Given the description of an element on the screen output the (x, y) to click on. 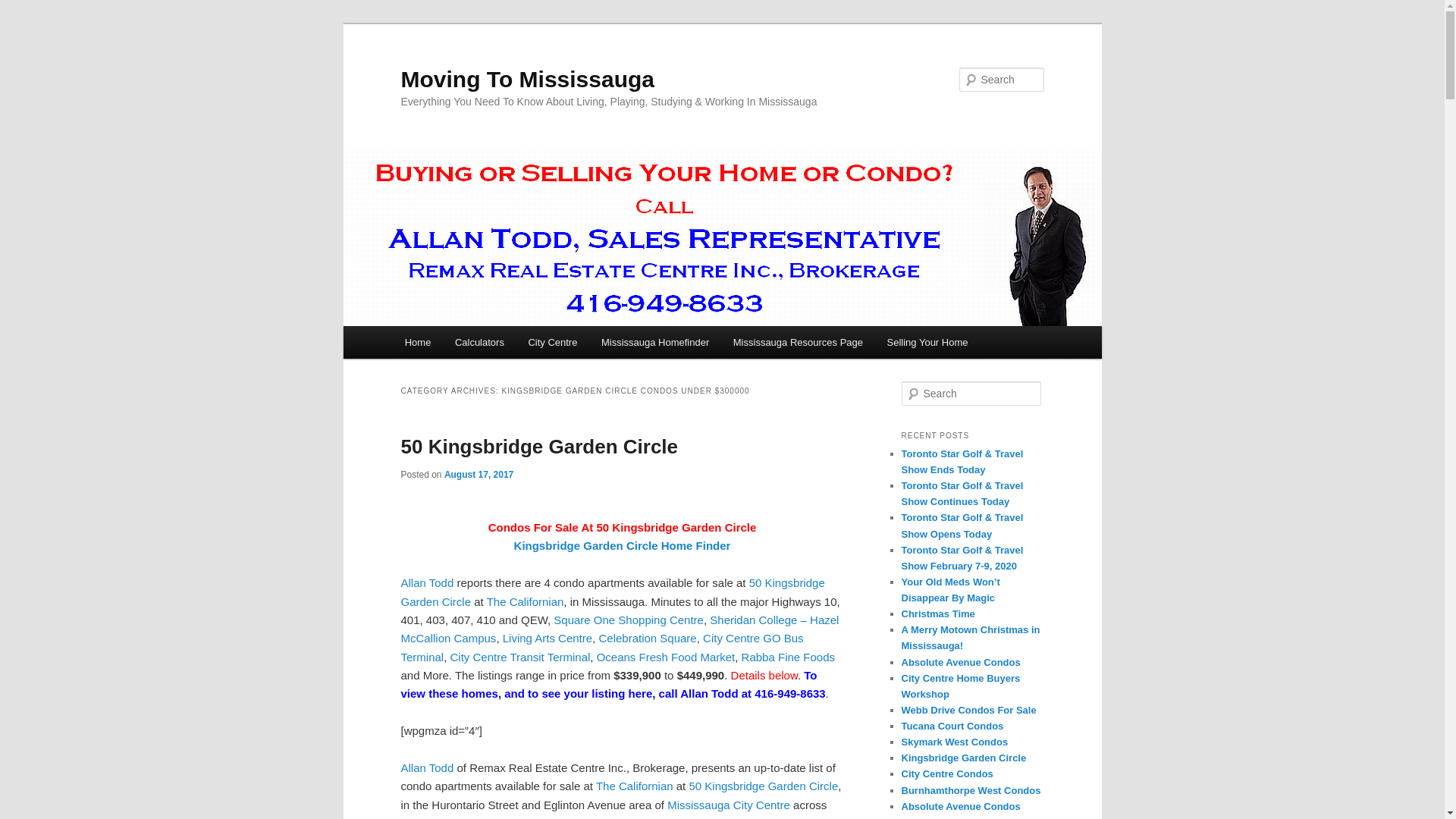
50 Kingsbridge Garden Circle (539, 445)
Oceans Fresh Food Market (665, 656)
Allan Todd (426, 767)
The Californian (525, 601)
Rabba Fine Foods (787, 656)
Calculators (479, 341)
Allan Todd (426, 582)
Mississauga Homefinder (654, 341)
Square One Shopping Centre (501, 817)
Living Arts Centre (547, 637)
1:01 am (478, 474)
Mississauga (698, 804)
City Centre GO Bus Terminal (601, 646)
City Centre (761, 804)
